Given the description of an element on the screen output the (x, y) to click on. 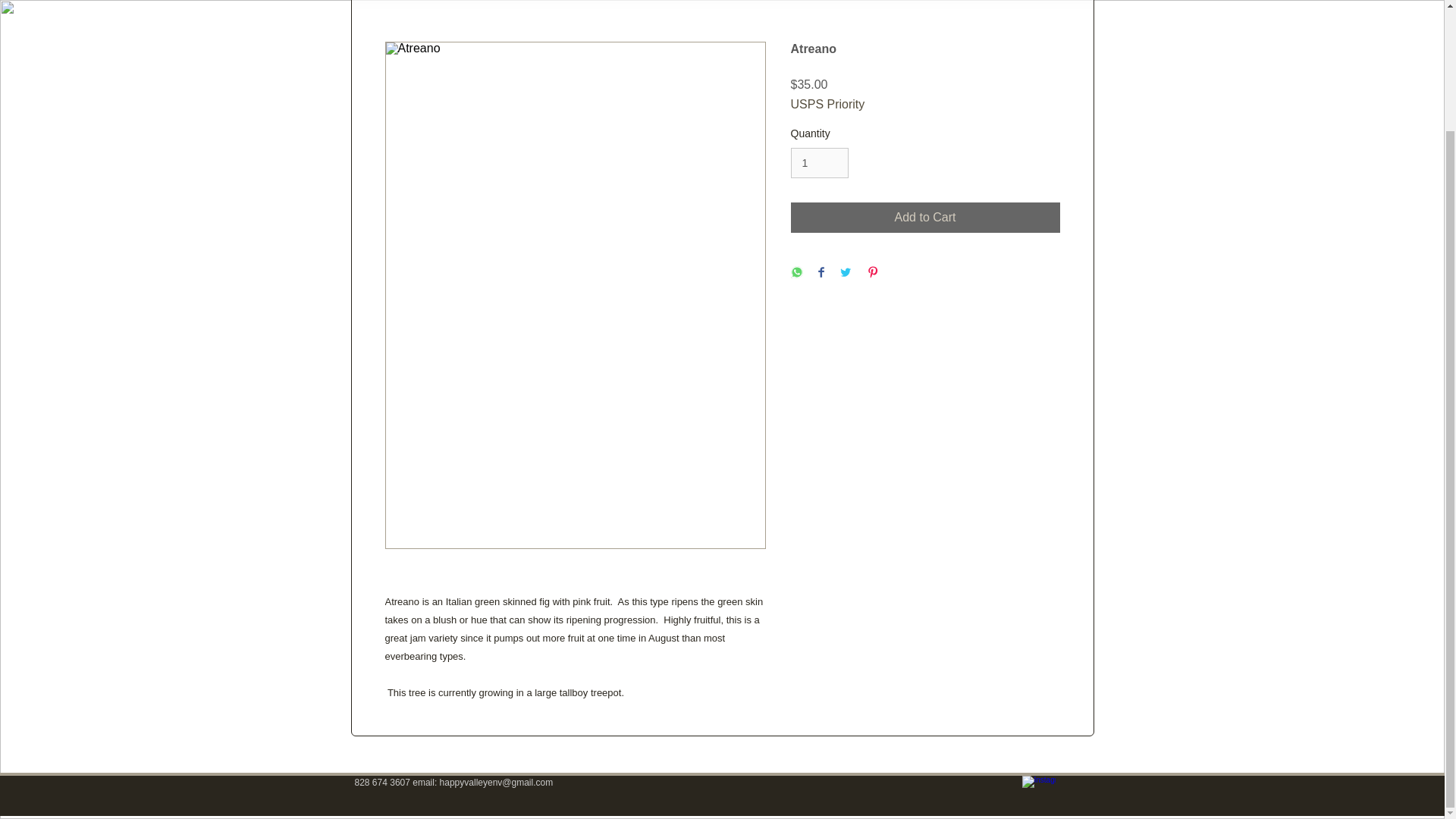
1 (818, 163)
Add to Cart (924, 217)
USPS Priority (827, 104)
